Given the description of an element on the screen output the (x, y) to click on. 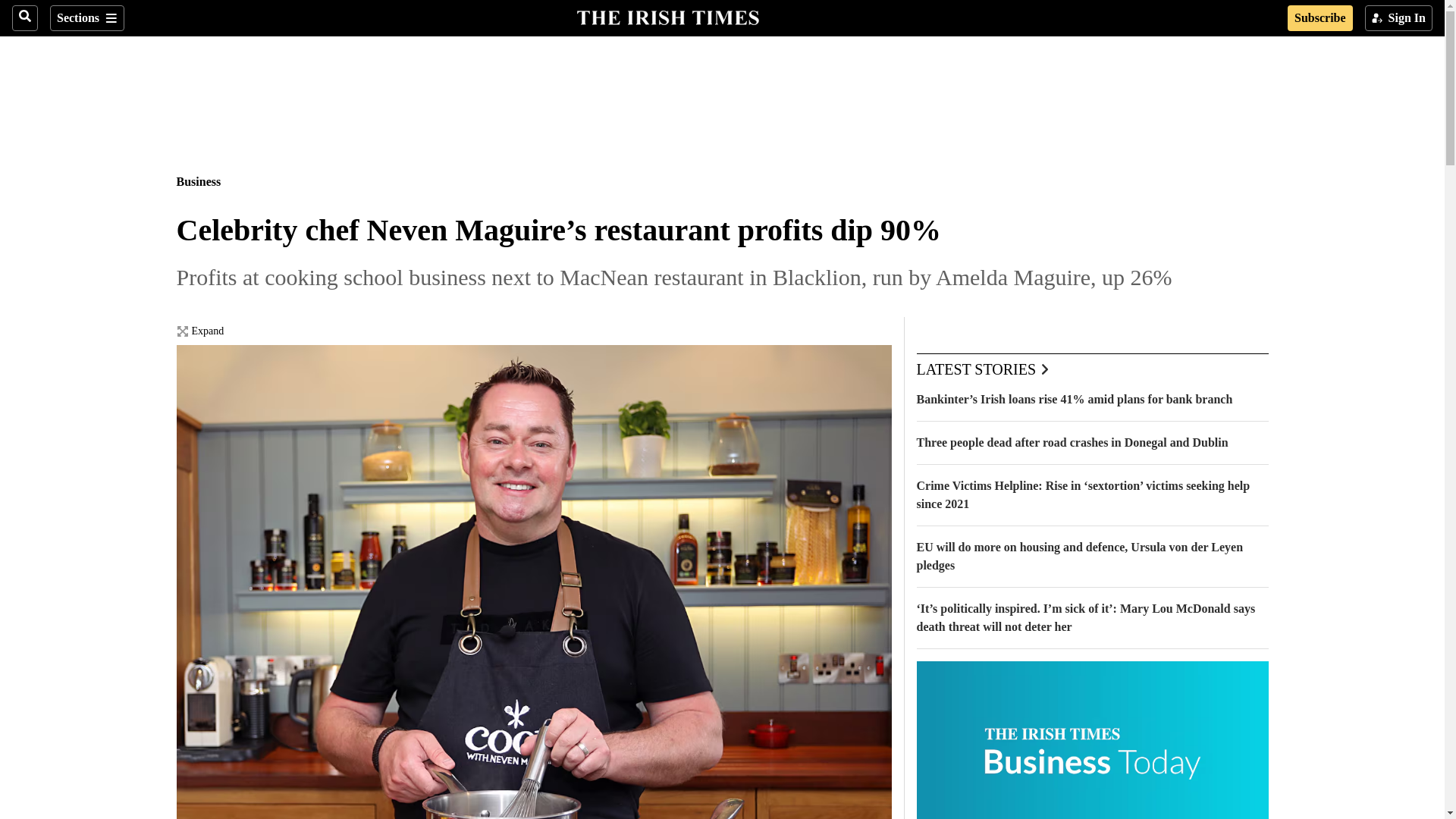
The Irish Times (667, 16)
Sign In (1398, 17)
Sections (86, 17)
Subscribe (1319, 17)
